Given the description of an element on the screen output the (x, y) to click on. 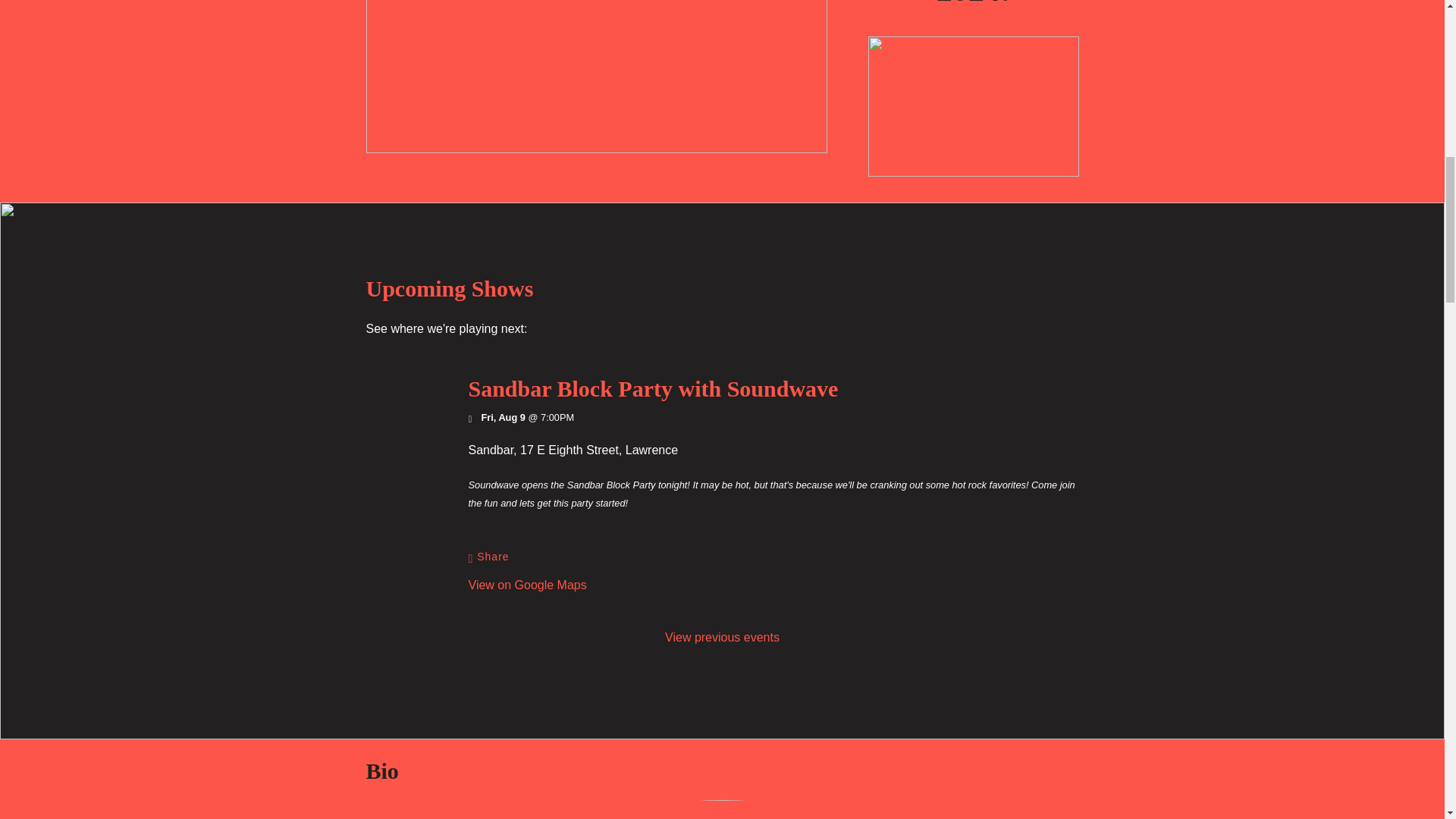
Sandbar Block Party with Soundwave (653, 388)
View on Google Maps (573, 449)
Sandbar, 17 E Eighth Street, Lawrence (573, 449)
View on Google Maps (527, 584)
View previous events (721, 636)
Share (488, 556)
